Given the description of an element on the screen output the (x, y) to click on. 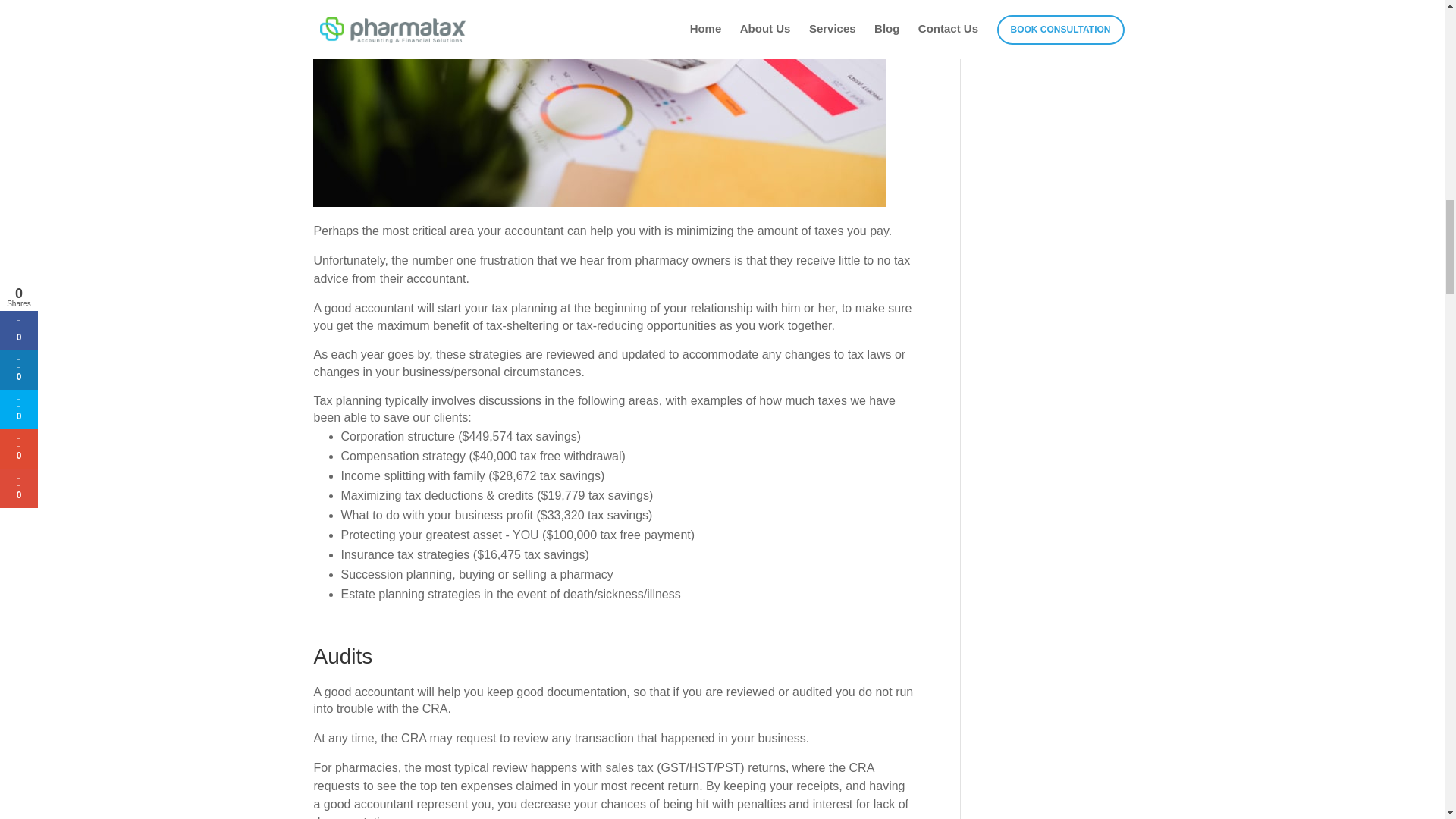
Close up Accountants use calculator analysis financial (599, 103)
